Given the description of an element on the screen output the (x, y) to click on. 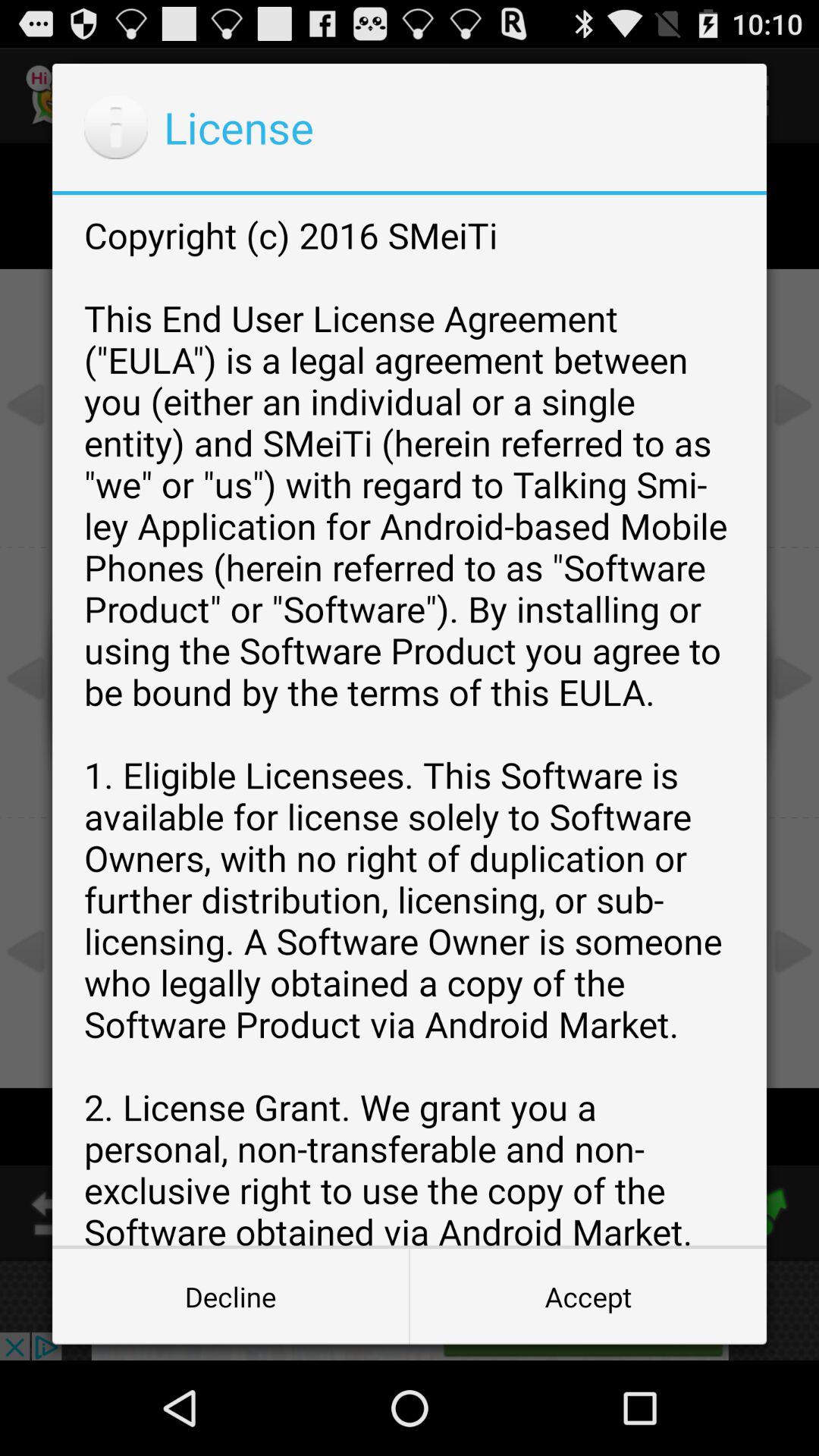
turn off item to the left of the accept (230, 1296)
